Given the description of an element on the screen output the (x, y) to click on. 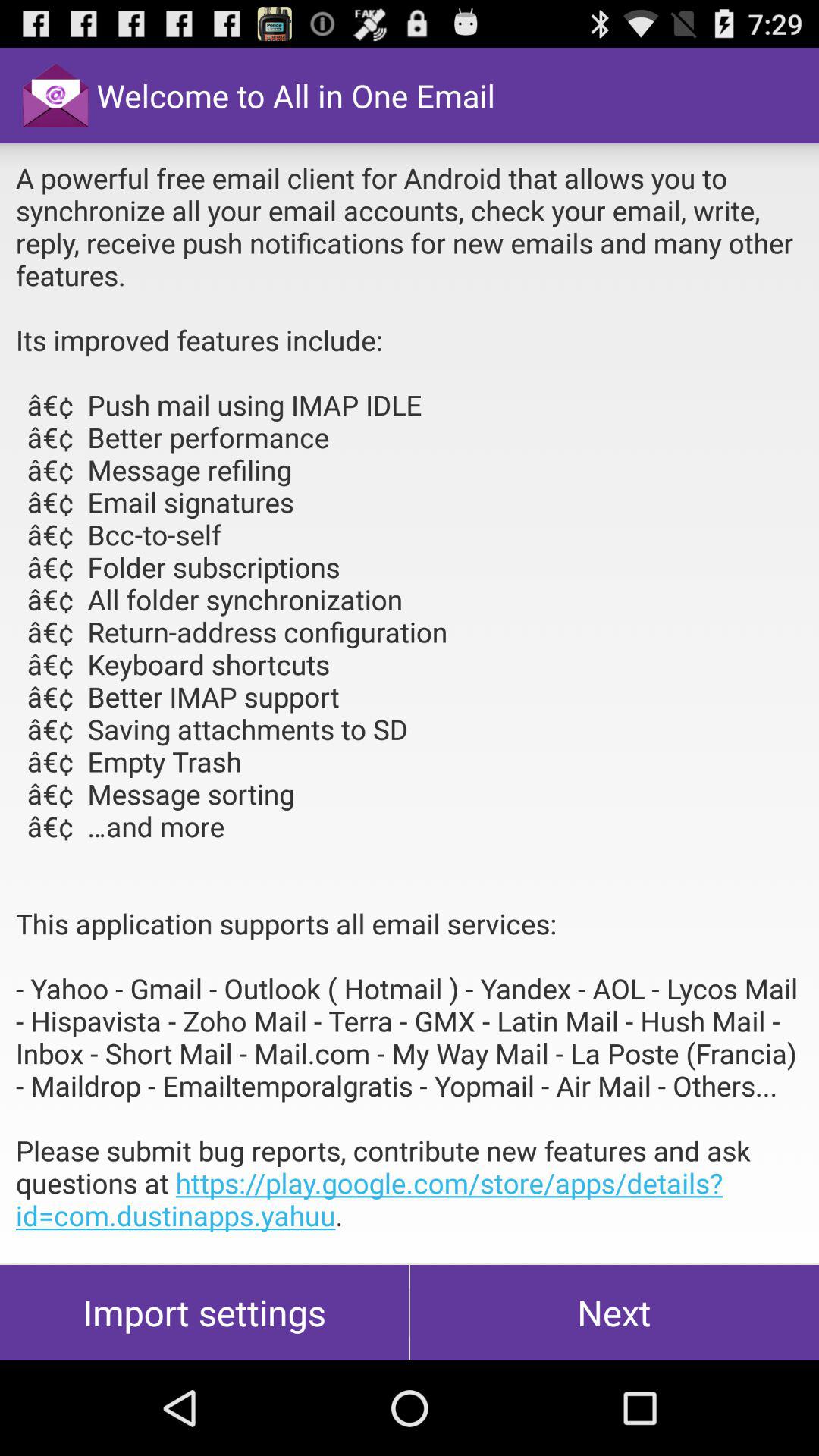
launch item next to the next item (204, 1312)
